Given the description of an element on the screen output the (x, y) to click on. 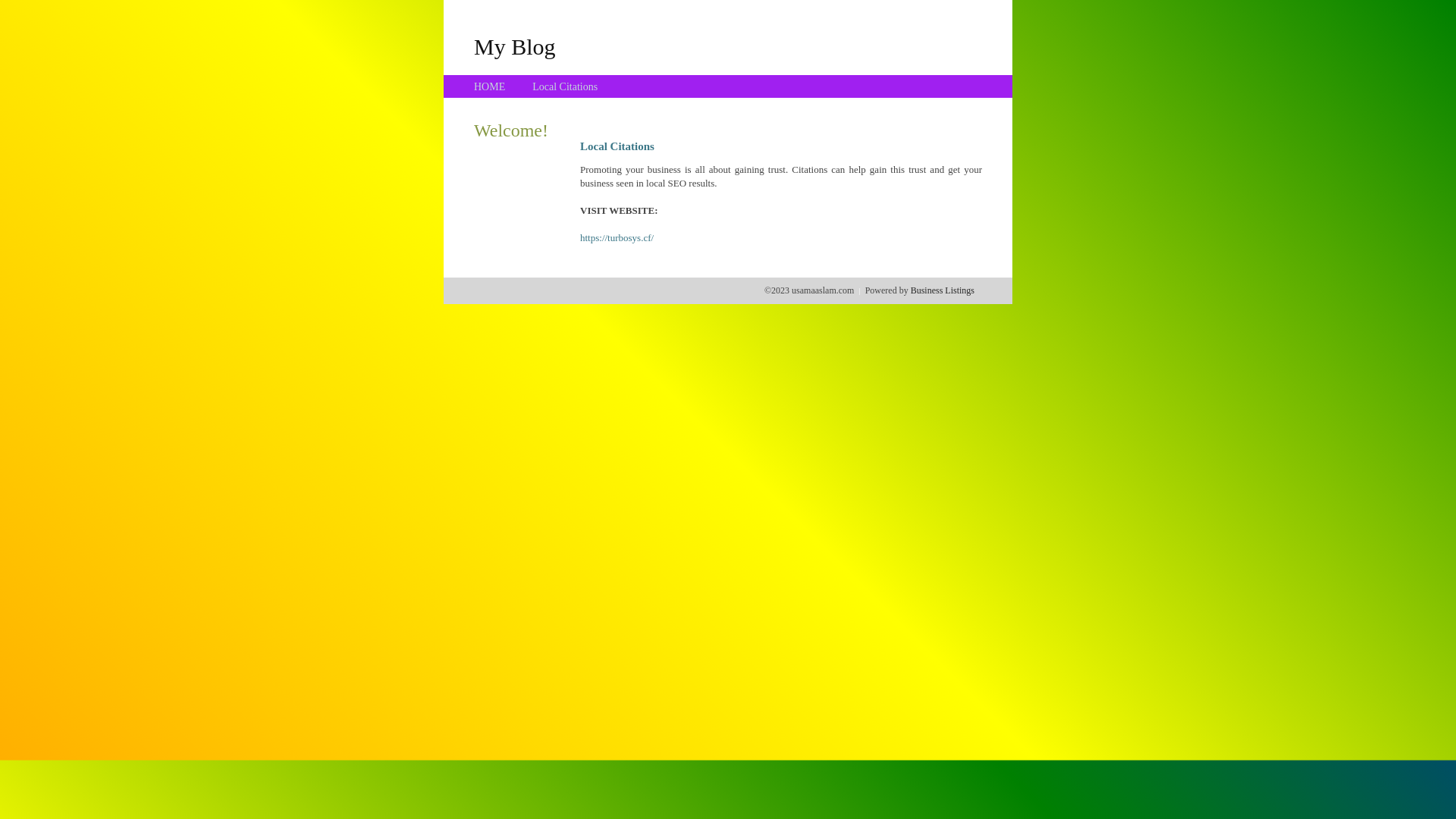
HOME Element type: text (489, 86)
My Blog Element type: text (514, 46)
Business Listings Element type: text (942, 290)
Local Citations Element type: text (564, 86)
https://turbosys.cf/ Element type: text (616, 237)
